Given the description of an element on the screen output the (x, y) to click on. 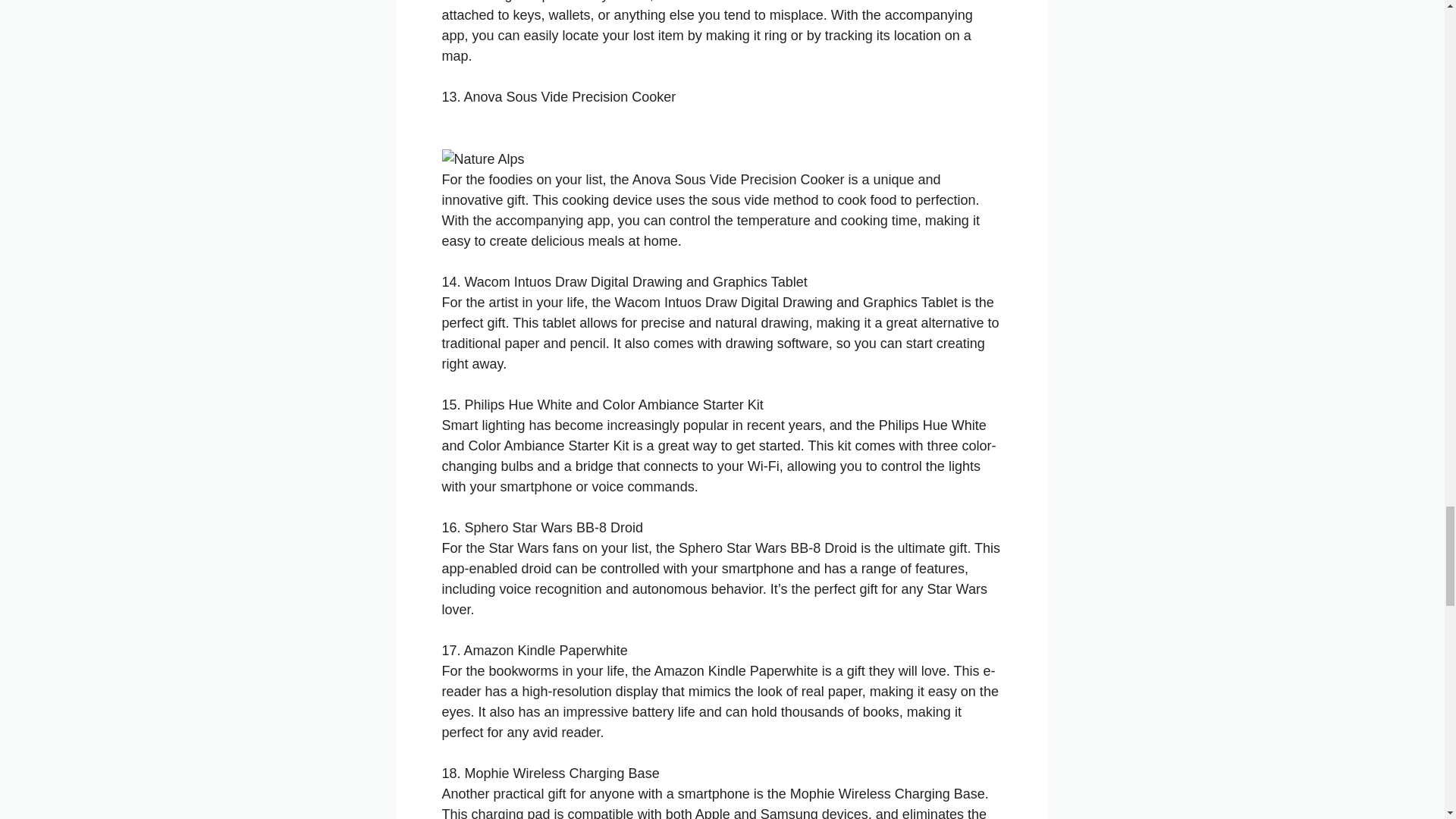
Nature Alps (482, 159)
